Given the description of an element on the screen output the (x, y) to click on. 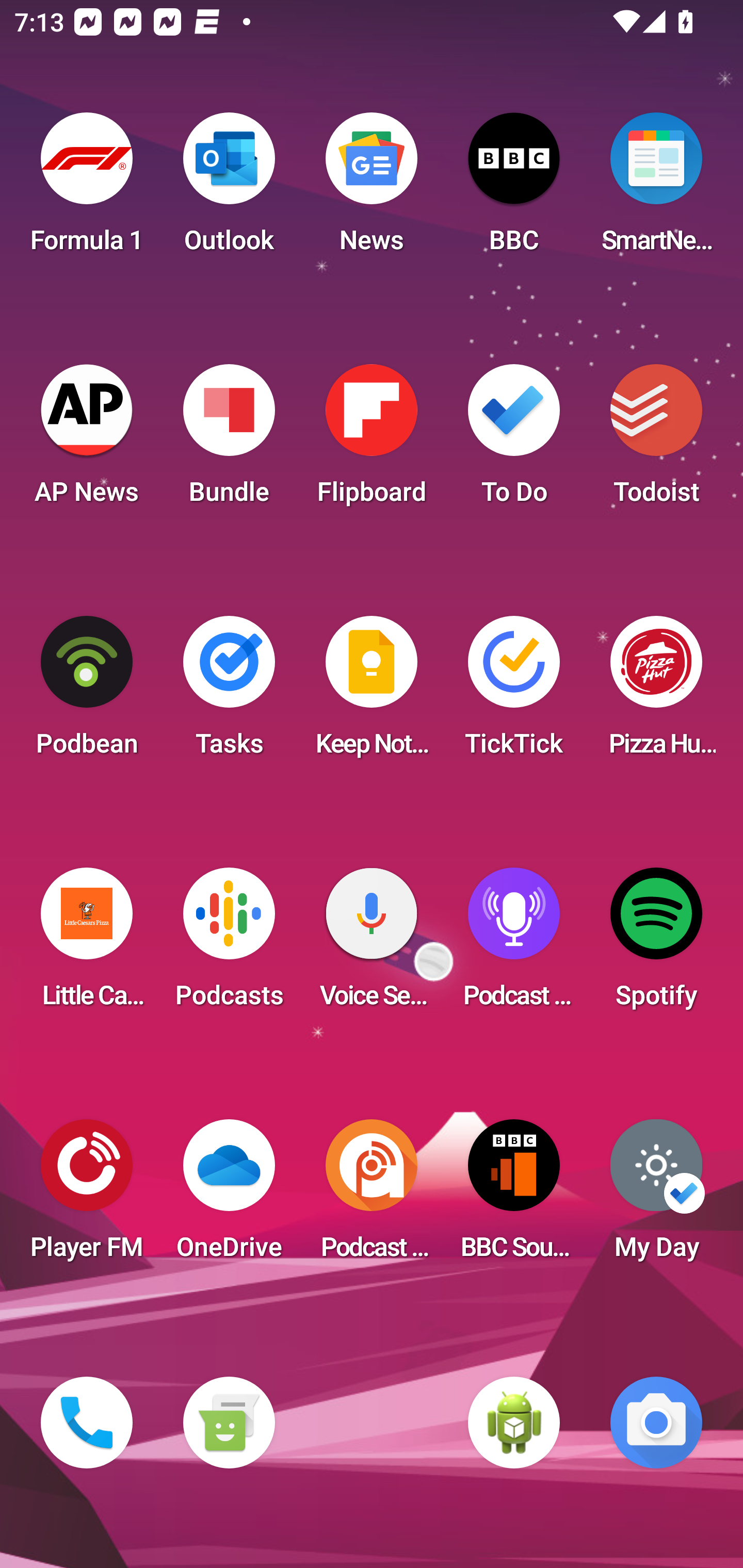
Formula 1 (86, 188)
Outlook (228, 188)
News (371, 188)
BBC (513, 188)
SmartNews (656, 188)
AP News (86, 440)
Bundle (228, 440)
Flipboard (371, 440)
To Do (513, 440)
Todoist (656, 440)
Podbean (86, 692)
Tasks (228, 692)
Keep Notes (371, 692)
TickTick (513, 692)
Pizza Hut HK & Macau (656, 692)
Little Caesars Pizza (86, 943)
Podcasts (228, 943)
Voice Search (371, 943)
Podcast Player (513, 943)
Spotify (656, 943)
Player FM (86, 1195)
OneDrive (228, 1195)
Podcast Addict (371, 1195)
BBC Sounds (513, 1195)
My Day (656, 1195)
Phone (86, 1422)
Messaging (228, 1422)
WebView Browser Tester (513, 1422)
Camera (656, 1422)
